Given the description of an element on the screen output the (x, y) to click on. 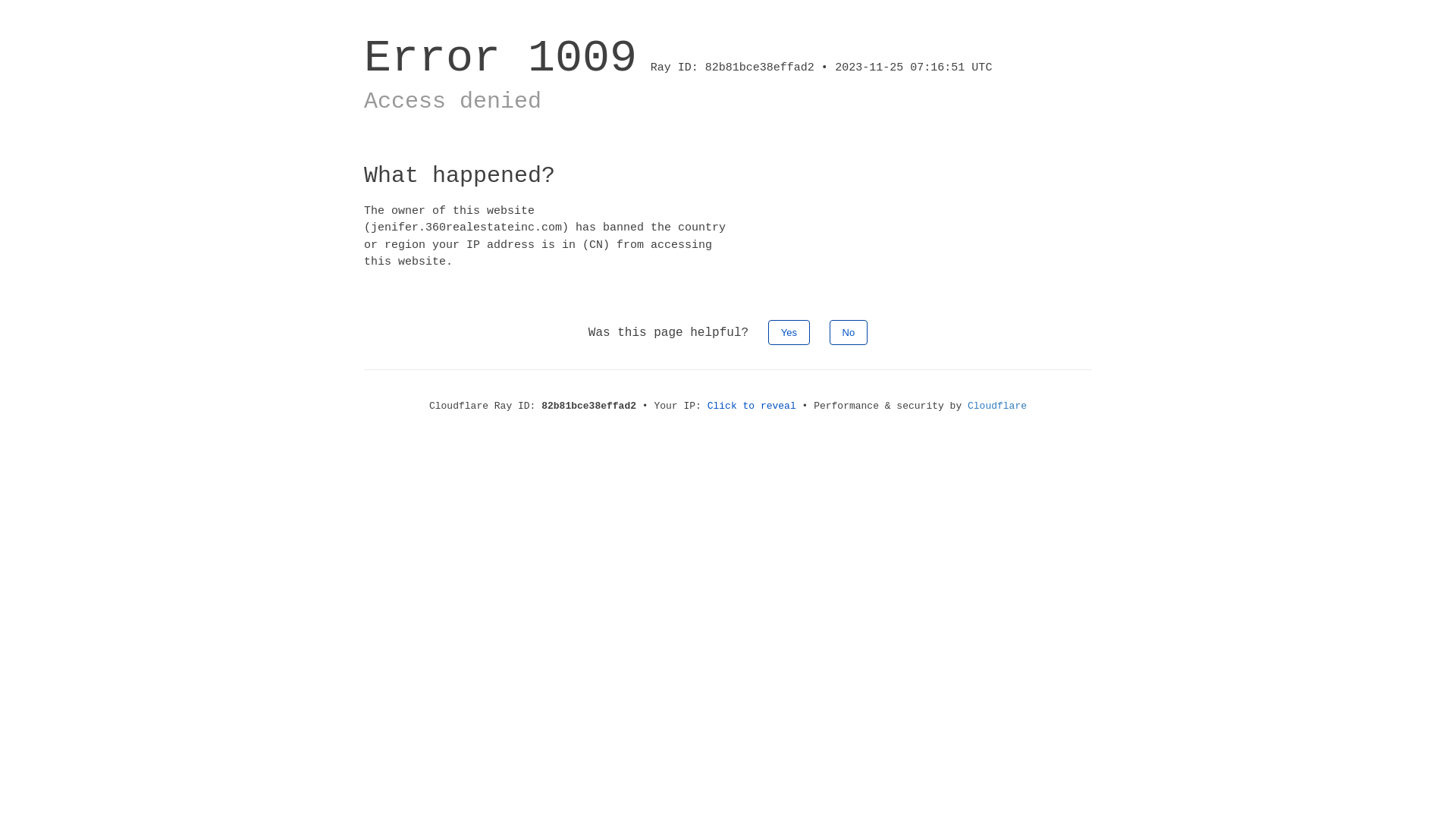
Yes Element type: text (788, 332)
No Element type: text (848, 332)
Cloudflare Element type: text (996, 405)
Click to reveal Element type: text (751, 405)
